Given the description of an element on the screen output the (x, y) to click on. 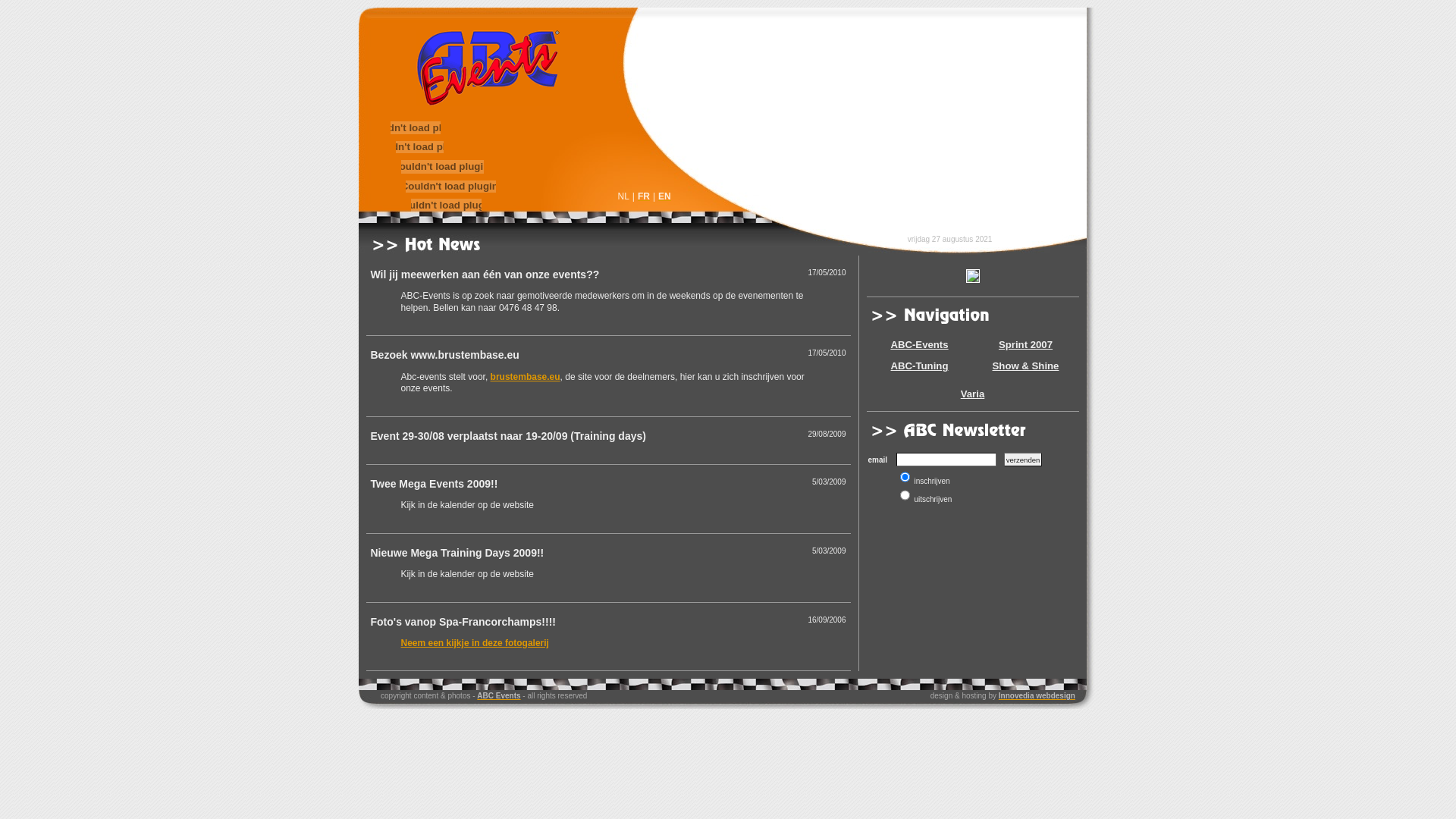
Christian Louboutin Heels Element type: text (777, 118)
Show & Shine Element type: text (1025, 366)
Sprint 2007 Element type: text (1025, 344)
ABC-Tuning Element type: text (919, 366)
ABC-Events Element type: text (919, 344)
moncler vest on sale Element type: text (879, 118)
Varia Element type: text (972, 394)
verzenden Element type: text (1023, 459)
Innovedia webdesign Element type: text (1036, 695)
brustembase.eu Element type: text (525, 376)
women moncler jackets Element type: text (415, 118)
ugg classic short chestnut Element type: text (1145, 118)
knitted ugg boots Element type: text (577, 118)
air force sale Element type: text (693, 118)
australian uggs Element type: text (957, 118)
EN Element type: text (664, 196)
ABC Events Element type: text (498, 695)
Neem een kijkje in deze fotogalerij Element type: text (474, 642)
FR Element type: text (643, 196)
moncler uk Element type: text (640, 118)
sheepskin uggs boots Element type: text (1039, 118)
